Given the description of an element on the screen output the (x, y) to click on. 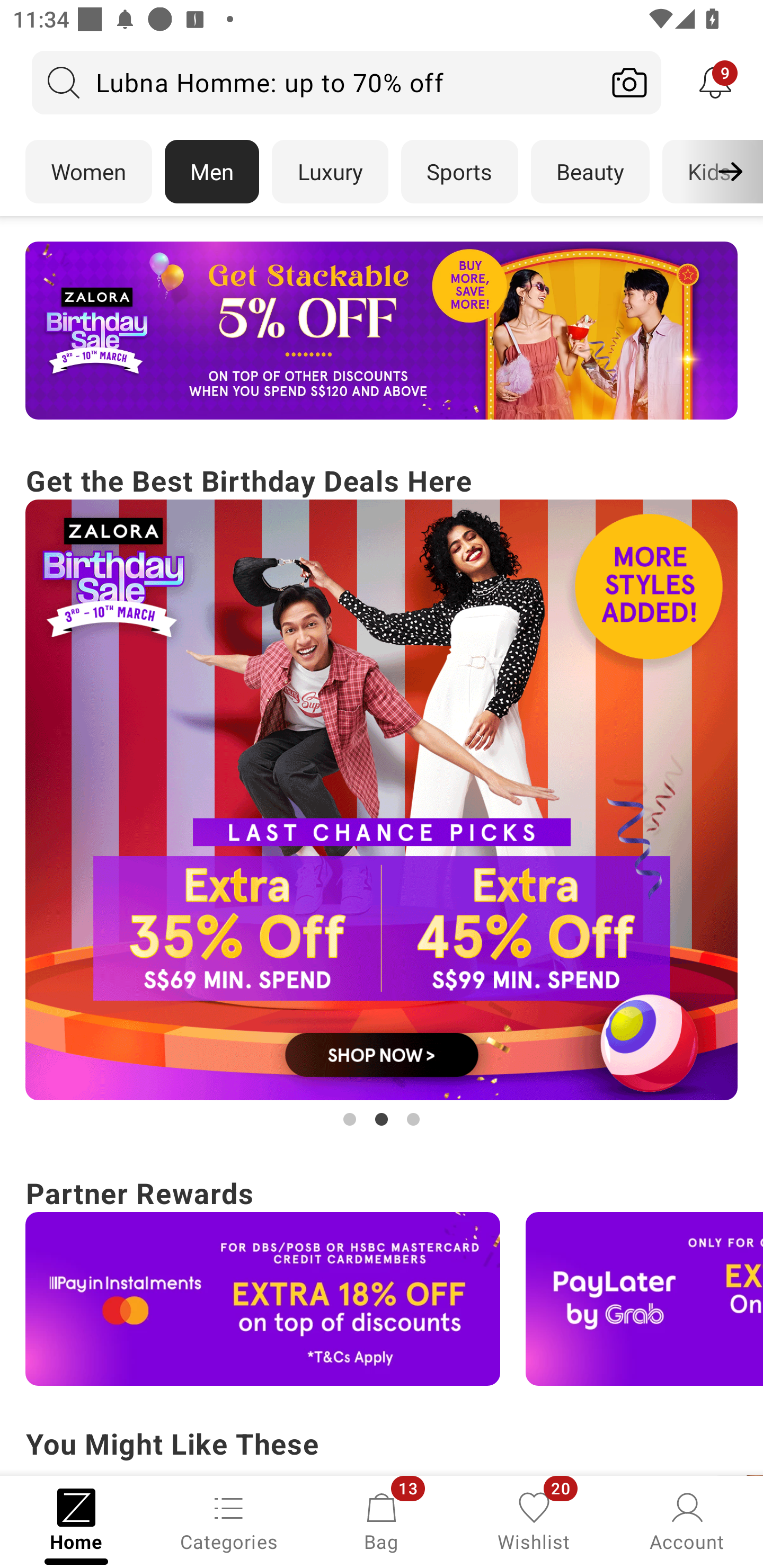
Lubna Homme: up to 70% off (314, 82)
Women (88, 171)
Men (211, 171)
Luxury (329, 171)
Sports (459, 171)
Beauty (590, 171)
Campaign banner (381, 330)
Get the Best Birthday Deals Here Campaign banner (381, 794)
Campaign banner (381, 800)
Partner Rewards Campaign banner Campaign banner (381, 1277)
Campaign banner (262, 1299)
Categories (228, 1519)
Bag, 13 new notifications Bag (381, 1519)
Wishlist, 20 new notifications Wishlist (533, 1519)
Account (686, 1519)
